Given the description of an element on the screen output the (x, y) to click on. 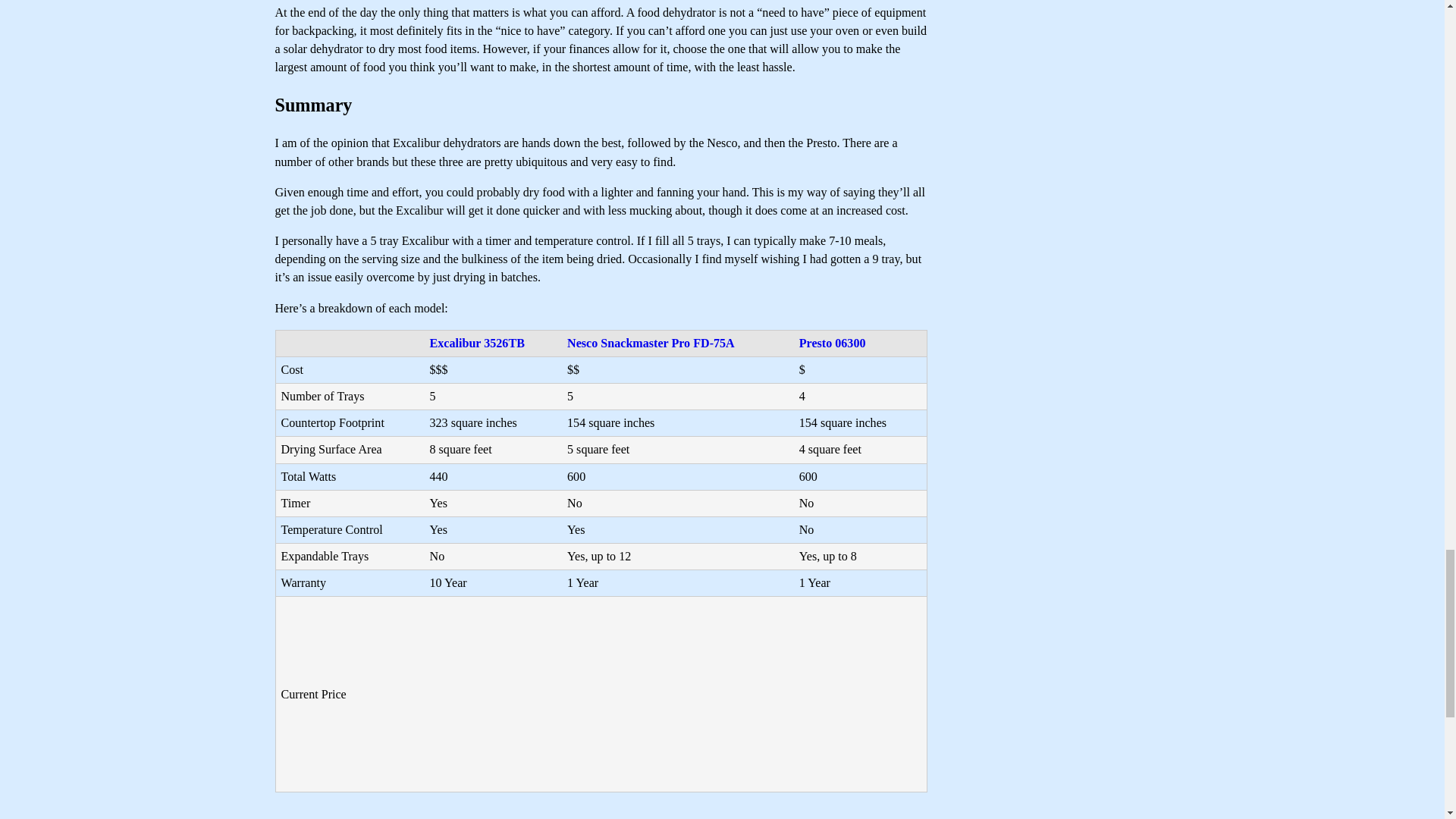
Presto 06300 (832, 342)
Nesco Snackmaster Pro FD-75A (651, 342)
Excalibur 3526TB (476, 342)
